Given the description of an element on the screen output the (x, y) to click on. 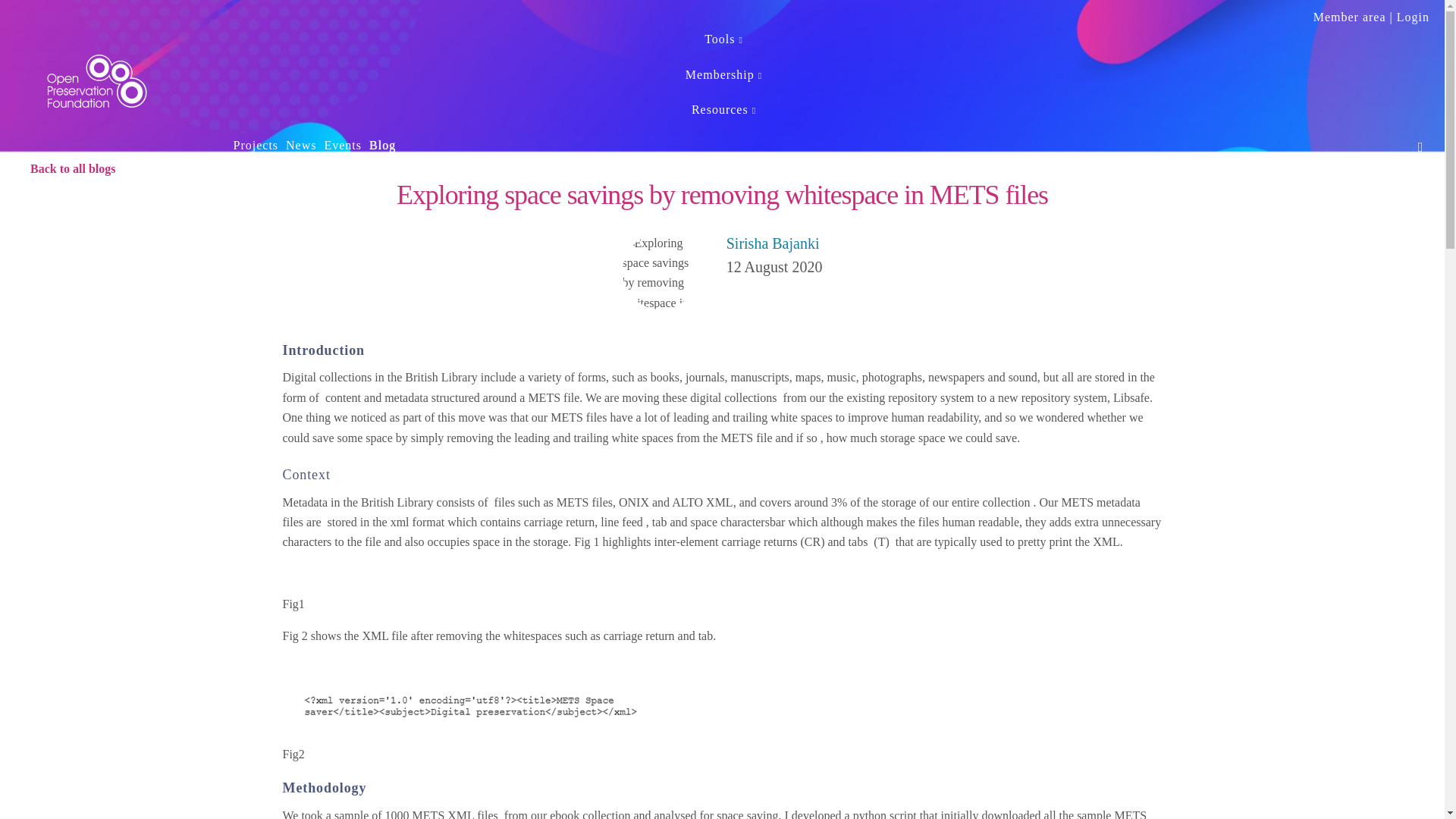
Projects (255, 151)
Events (342, 151)
Login (1412, 18)
Resources (723, 116)
Membership (723, 81)
Member area (1349, 18)
Blog (381, 151)
Tools (723, 45)
News (301, 151)
